Given the description of an element on the screen output the (x, y) to click on. 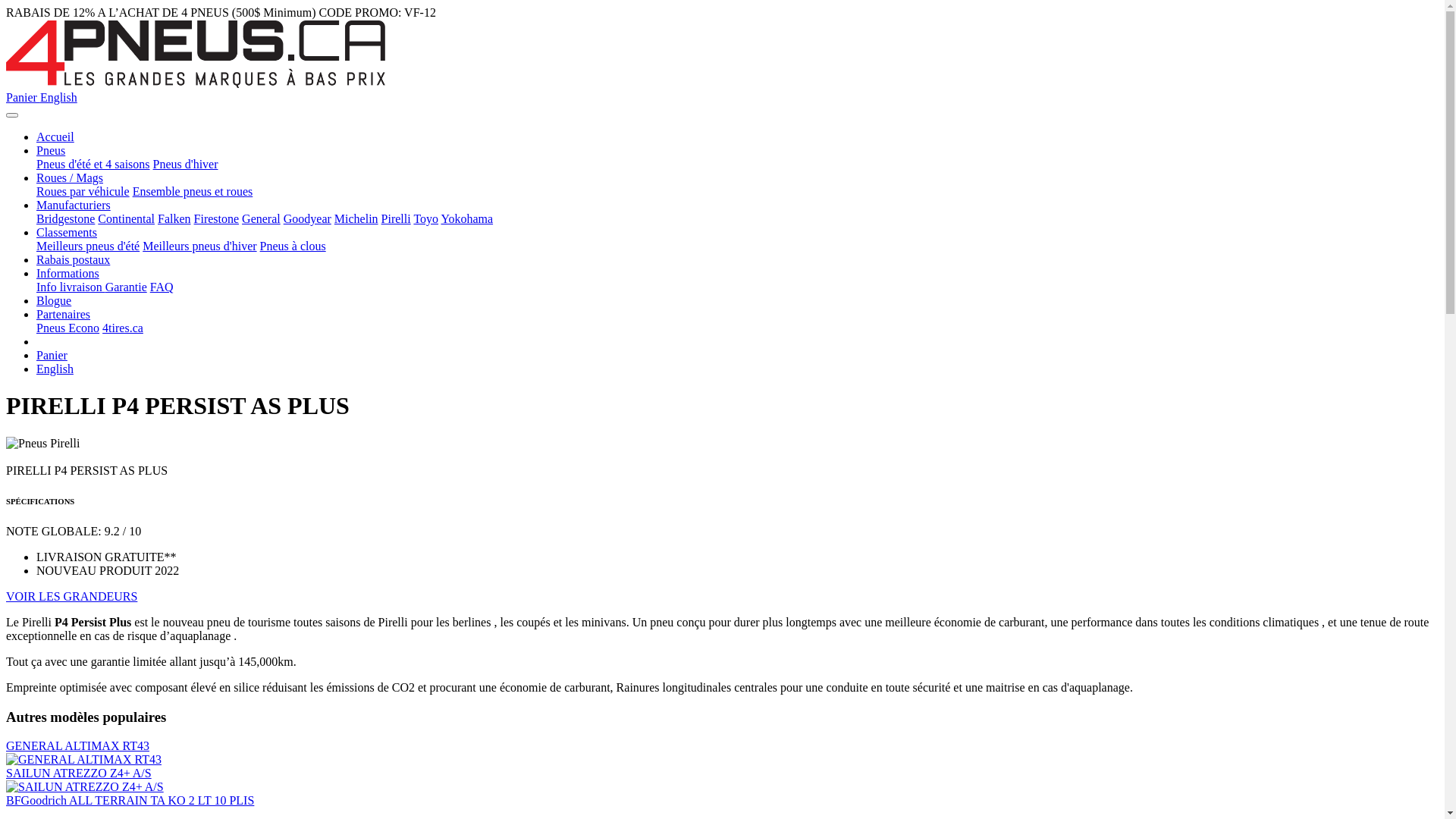
Info livraison Element type: text (70, 286)
Panier Element type: text (23, 97)
Yokohama Element type: text (466, 218)
Informations Element type: text (67, 272)
Ensemble pneus et roues Element type: text (192, 191)
Bridgestone Element type: text (65, 218)
GENERAL ALTIMAX RT43 Element type: text (77, 745)
Falken Element type: text (174, 218)
Panier Element type: text (51, 354)
Pneus Element type: text (50, 150)
Manufacturiers Element type: text (73, 204)
Garantie Element type: text (126, 286)
Roues / Mags Element type: text (69, 177)
Firestone Element type: text (216, 218)
English Element type: text (54, 368)
SAILUN ATREZZO Z4+ A/S Element type: text (78, 772)
Continental Element type: text (125, 218)
Classements Element type: text (66, 231)
Goodyear Element type: text (307, 218)
Toyo Element type: text (425, 218)
Blogue Element type: text (53, 300)
BFGoodrich ALL TERRAIN TA KO 2 LT 10 PLIS Element type: text (130, 799)
Rabais postaux Element type: text (72, 259)
Meilleurs pneus d'hiver Element type: text (199, 245)
FAQ Element type: text (161, 286)
General Element type: text (260, 218)
Partenaires Element type: text (63, 313)
Pirelli Element type: text (396, 218)
English Element type: text (58, 97)
4tires.ca Element type: text (122, 327)
Pneus d'hiver Element type: text (185, 163)
Michelin Element type: text (356, 218)
VOIR LES GRANDEURS Element type: text (71, 595)
Accueil Element type: text (55, 136)
Pneus Econo Element type: text (67, 327)
